Given the description of an element on the screen output the (x, y) to click on. 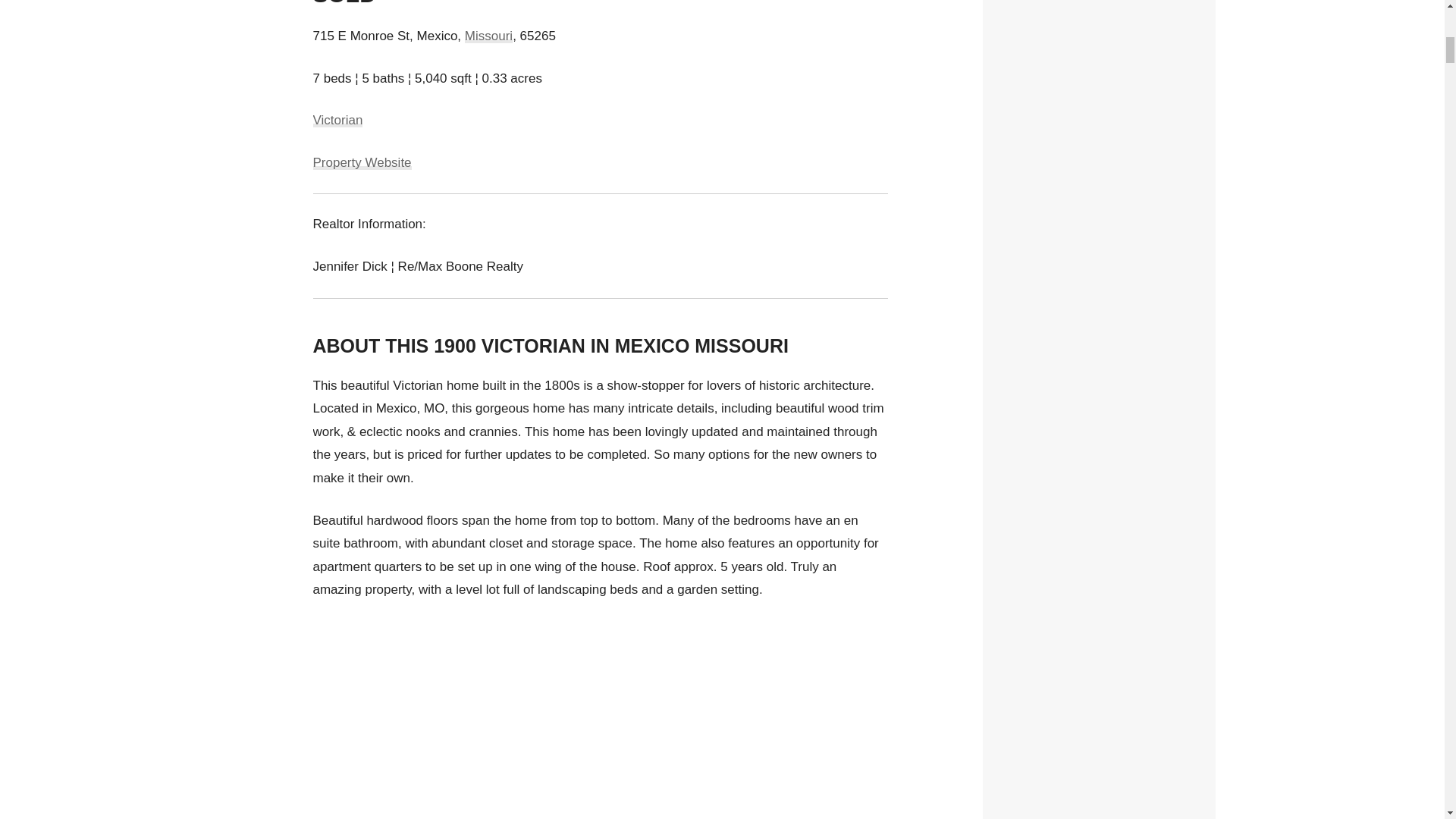
1900 Victorian For Sale In Mexico Missouri (600, 719)
Victorian (337, 120)
Missouri (488, 35)
Property Website (361, 162)
